Given the description of an element on the screen output the (x, y) to click on. 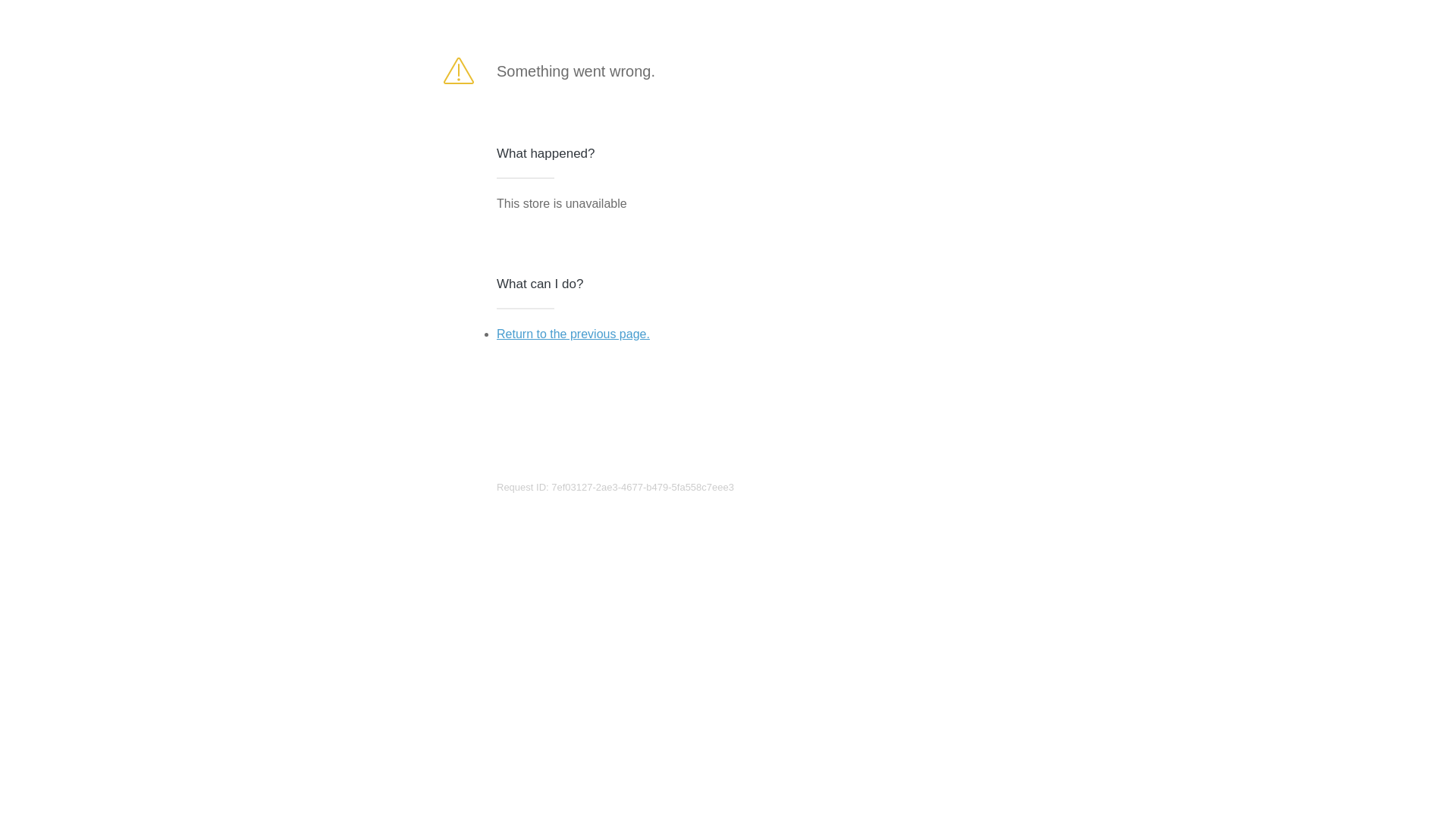
Return to the previous page. Element type: text (572, 333)
